Given the description of an element on the screen output the (x, y) to click on. 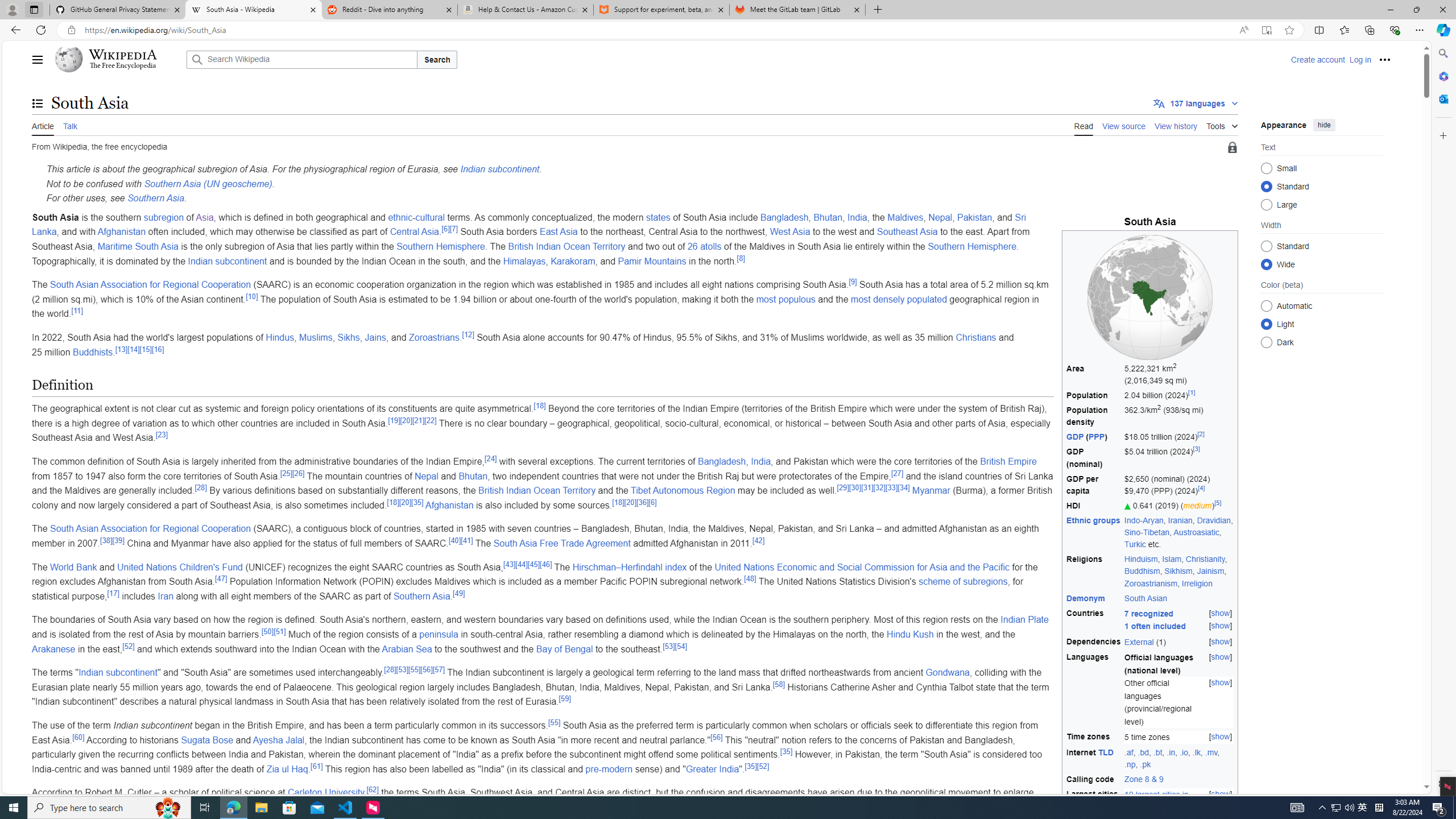
Internet TLD (1093, 758)
Ethnic groups (1093, 533)
Muslims (315, 337)
[48] (750, 578)
Carleton University (325, 792)
[45] (533, 563)
[16] (157, 348)
Gondwana (947, 672)
Time zones (1093, 737)
Maritime South Asia (138, 246)
most populous (785, 299)
[23] (161, 434)
[28] (390, 669)
Christians (975, 337)
Zone 8 & 9 (1143, 779)
